Given the description of an element on the screen output the (x, y) to click on. 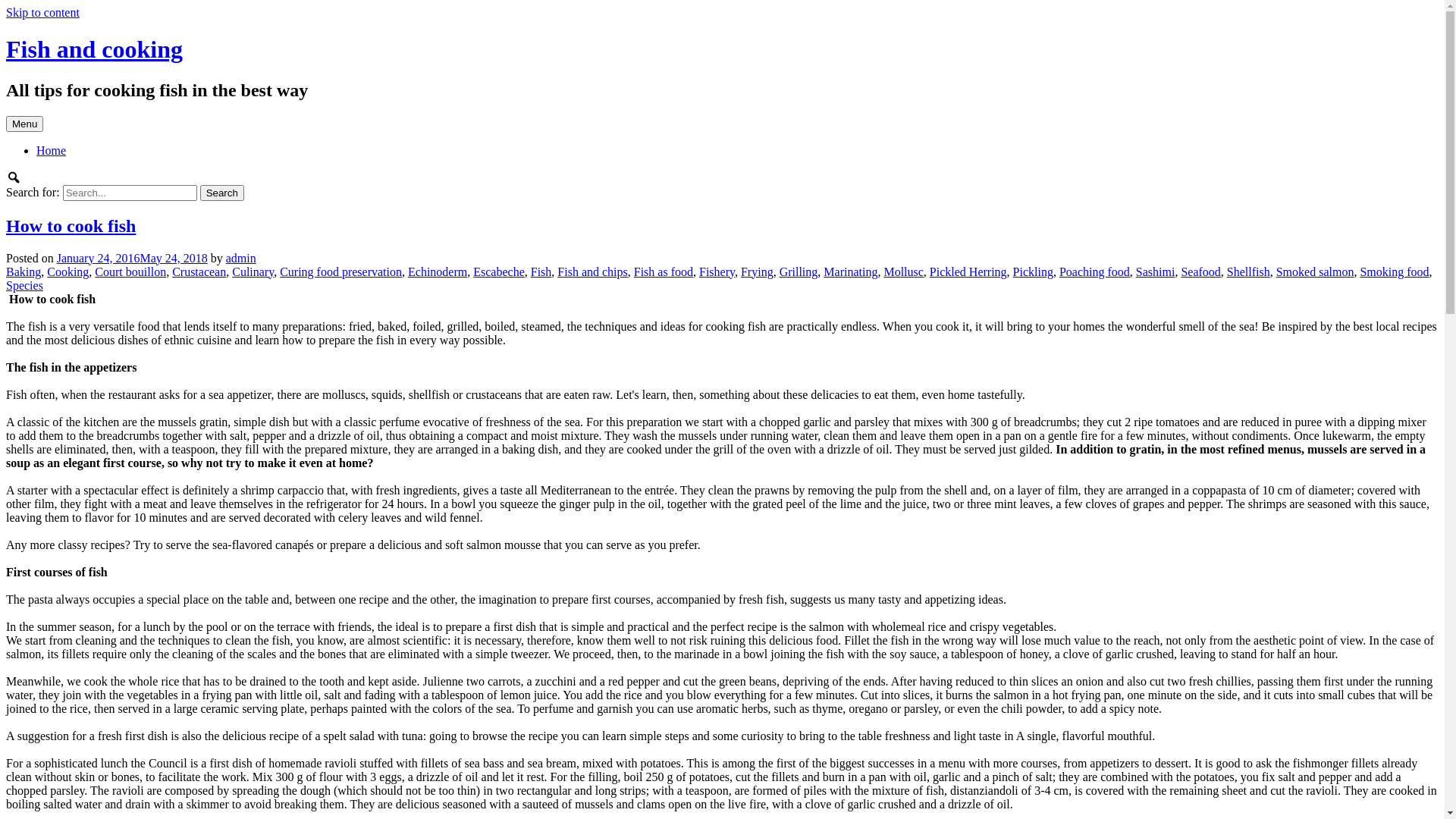
Pickling Element type: text (1033, 271)
Species Element type: text (24, 285)
January 24, 2016May 24, 2018 Element type: text (131, 257)
Menu Element type: text (24, 123)
Skip to content Element type: text (42, 12)
Grilling Element type: text (798, 271)
Poaching food Element type: text (1094, 271)
Search Element type: text (222, 192)
Echinoderm Element type: text (437, 271)
Shellfish Element type: text (1248, 271)
Pickled Herring Element type: text (968, 271)
Frying Element type: text (756, 271)
Court bouillon Element type: text (130, 271)
Marinating Element type: text (850, 271)
Crustacean Element type: text (198, 271)
admin Element type: text (240, 257)
Fish Element type: text (541, 271)
Fishery Element type: text (716, 271)
Fish and chips Element type: text (592, 271)
Sashimi Element type: text (1155, 271)
Fish and cooking Element type: text (94, 48)
Search for: Element type: hover (129, 192)
Mollusc Element type: text (902, 271)
Smoking food Element type: text (1393, 271)
Curing food preservation Element type: text (340, 271)
Culinary Element type: text (252, 271)
Smoked salmon Element type: text (1315, 271)
How to cook fish Element type: text (70, 225)
Seafood Element type: text (1200, 271)
Cooking Element type: text (67, 271)
Baking Element type: text (23, 271)
Home Element type: text (50, 150)
Fish as food Element type: text (663, 271)
Escabeche Element type: text (498, 271)
